Given the description of an element on the screen output the (x, y) to click on. 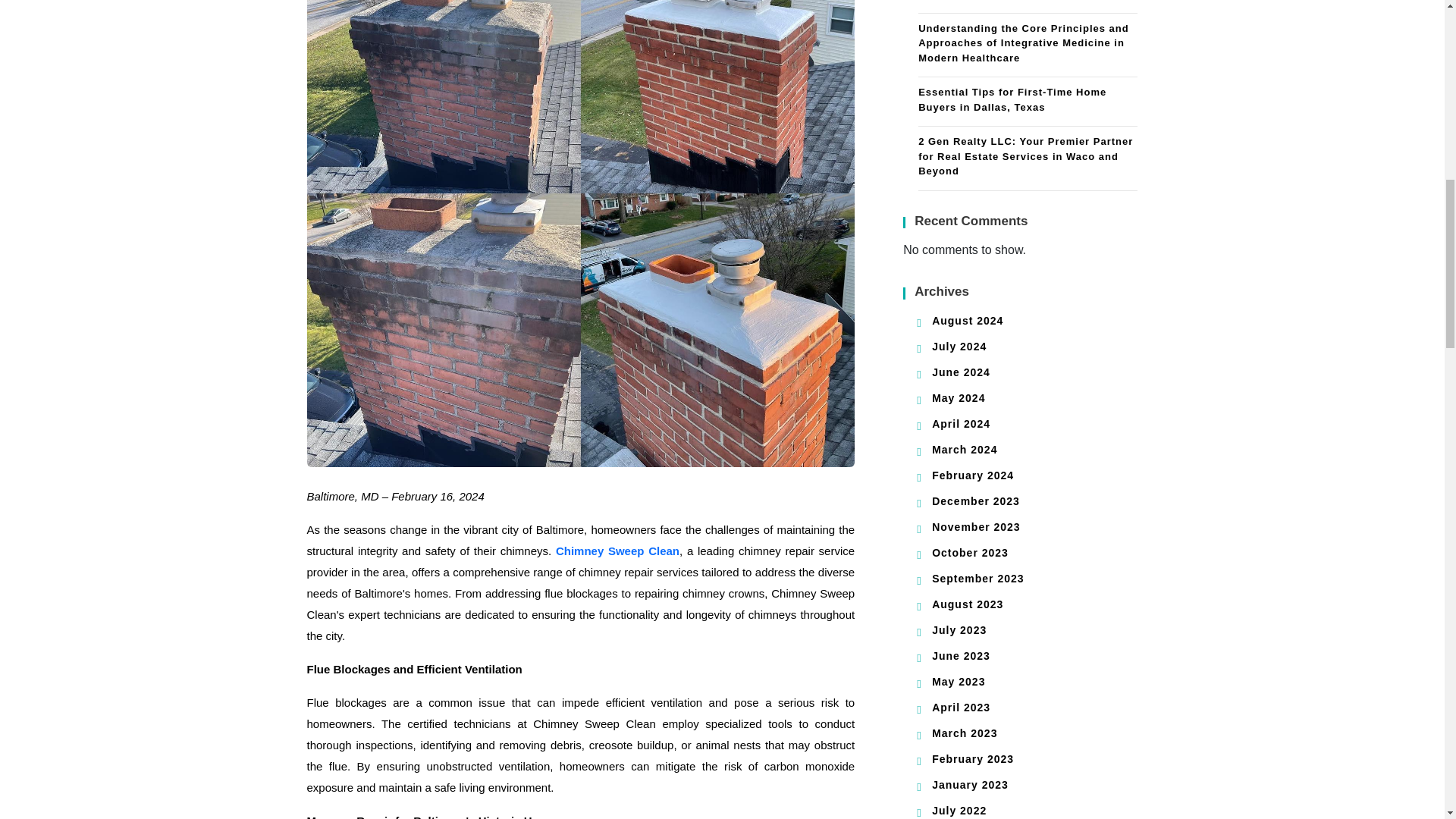
May 2024 (958, 398)
August 2024 (967, 320)
June 2024 (960, 372)
July 2024 (959, 346)
March 2024 (964, 449)
Chimney Sweep Clean (617, 550)
Essential Tips for First-Time Home Buyers in Dallas, Texas (1027, 101)
April 2024 (960, 423)
